Given the description of an element on the screen output the (x, y) to click on. 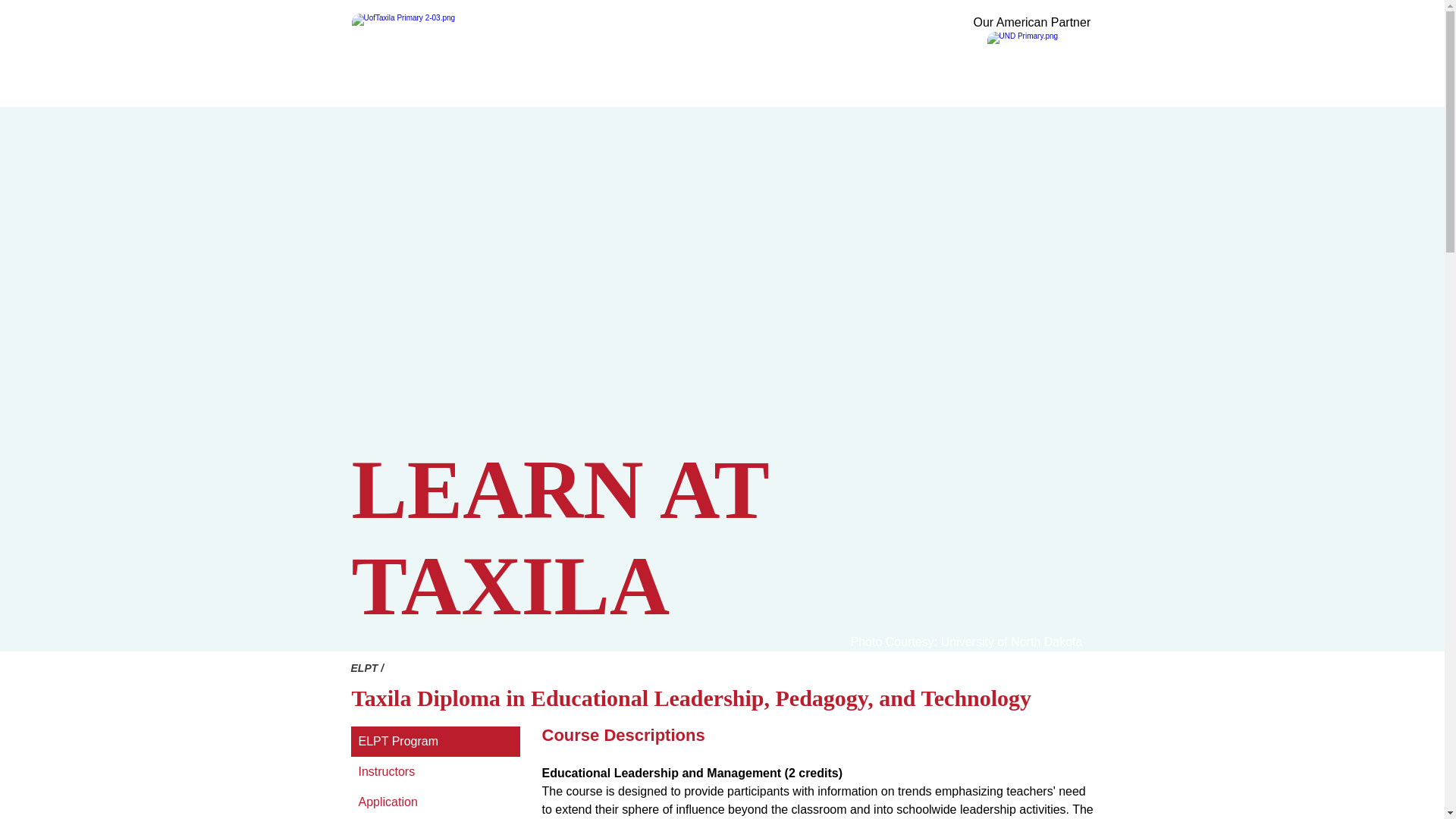
Instructors (434, 771)
Application (434, 802)
ELPT Program (434, 741)
